Given the description of an element on the screen output the (x, y) to click on. 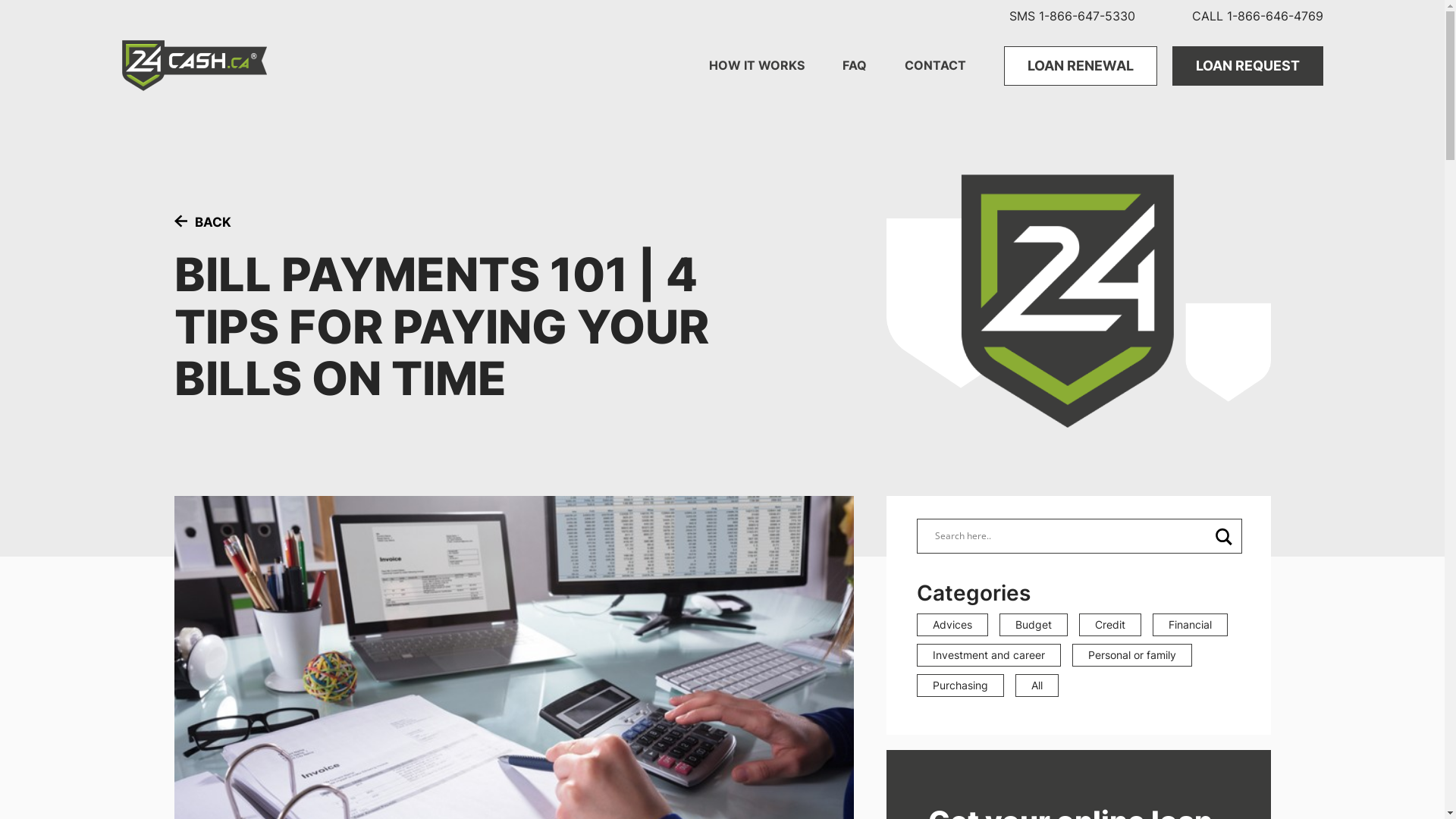
Financial Element type: text (1189, 624)
All Element type: text (1036, 685)
LOAN RENEWAL Element type: text (1080, 65)
Purchasing Element type: text (960, 685)
HOW IT WORKS Element type: text (755, 64)
Budget Element type: text (1033, 624)
CALL 1-866-646-4769 Element type: text (1257, 16)
CONTACT Element type: text (934, 64)
Personal or family Element type: text (1132, 654)
Credit Element type: text (1110, 624)
Advices Element type: text (952, 624)
LOAN REQUEST Element type: text (1247, 65)
Investment and career Element type: text (988, 654)
BACK Element type: text (202, 220)
SMS 1-866-647-5330 Element type: text (1071, 16)
FAQ Element type: text (853, 64)
